Given the description of an element on the screen output the (x, y) to click on. 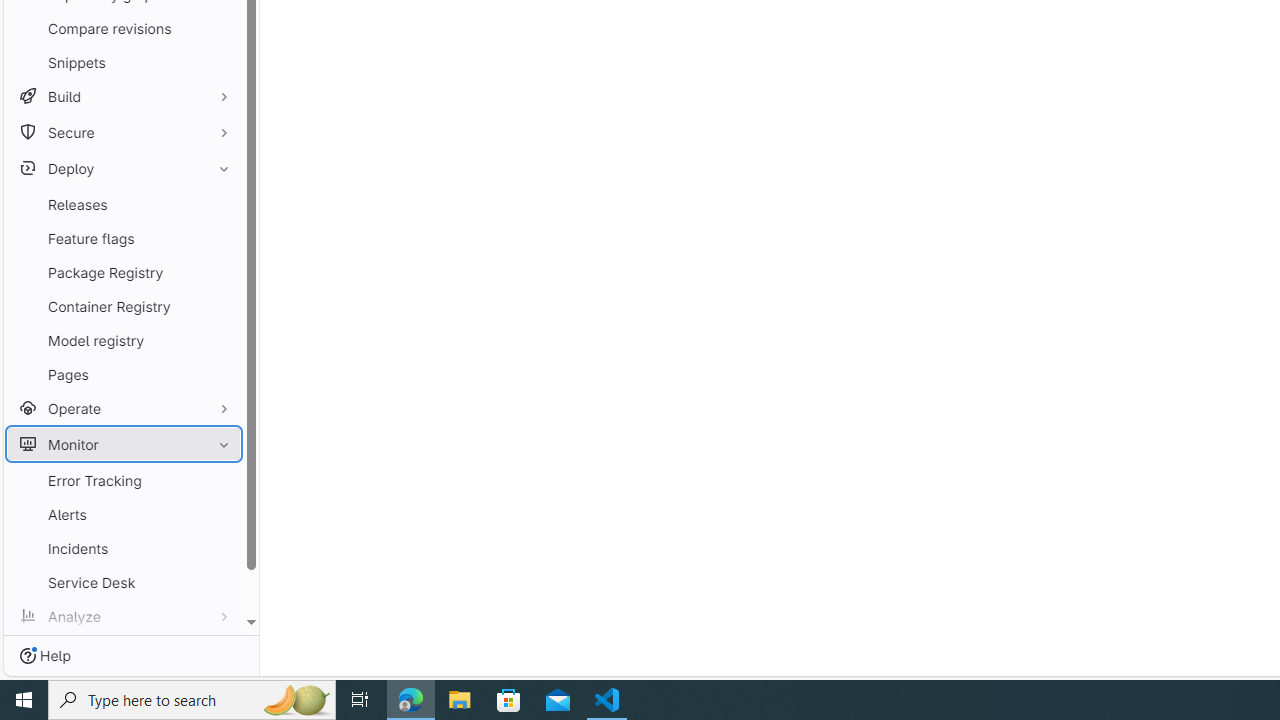
Container Registry (123, 306)
Pages (123, 373)
Pin Incidents (219, 547)
Pin Container Registry (219, 305)
Operate (123, 407)
Error Tracking (123, 479)
Feature flags (123, 237)
Build (123, 96)
Pin Error Tracking (219, 480)
Package Registry (123, 272)
Pin Service Desk (219, 582)
Analyze (123, 615)
Pin Snippets (219, 61)
Secure (123, 132)
